Given the description of an element on the screen output the (x, y) to click on. 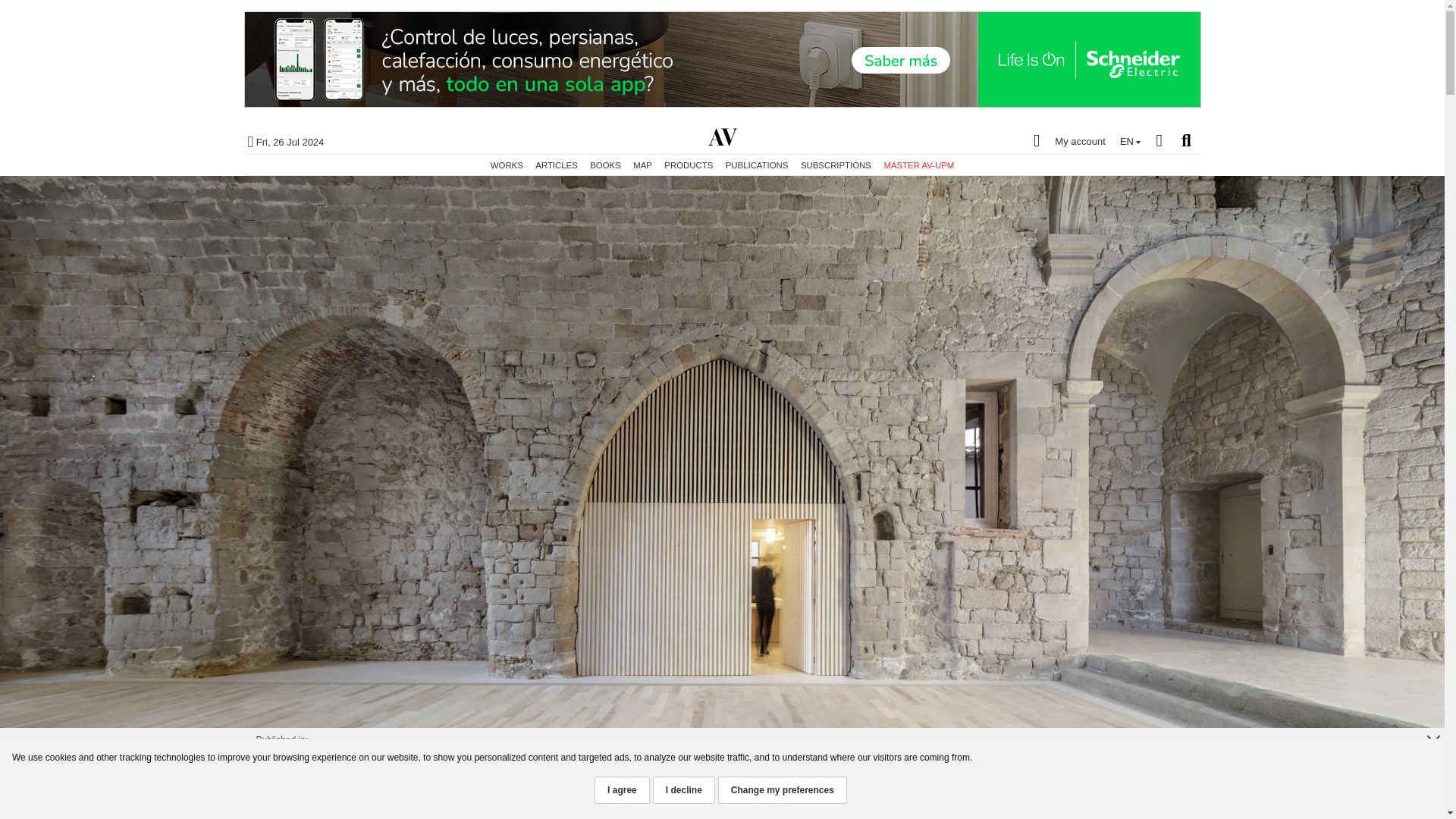
I agree (621, 789)
Search (1185, 140)
My account (1065, 139)
I decline (683, 789)
Change my preferences (782, 789)
